Given the description of an element on the screen output the (x, y) to click on. 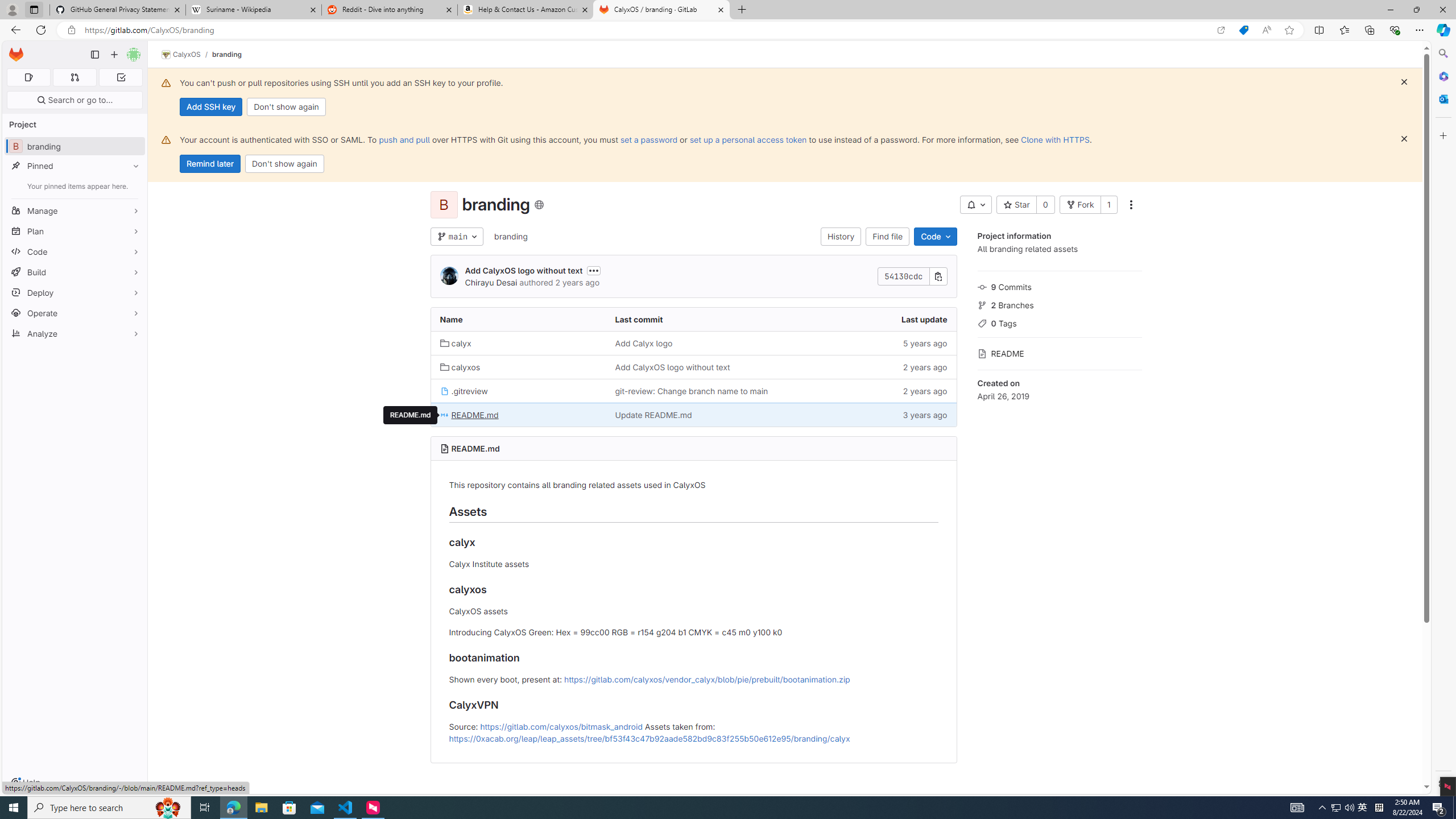
calyxos (517, 366)
Bbranding (74, 145)
.gitreview (463, 390)
2 Branches (1058, 304)
Code (935, 236)
Homepage (16, 54)
Skip to main content (13, 49)
Copy commit SHA (937, 275)
README.md (517, 414)
5 years ago (868, 342)
Class: s16 gl-icon gl-button-icon  (1404, 138)
